Given the description of an element on the screen output the (x, y) to click on. 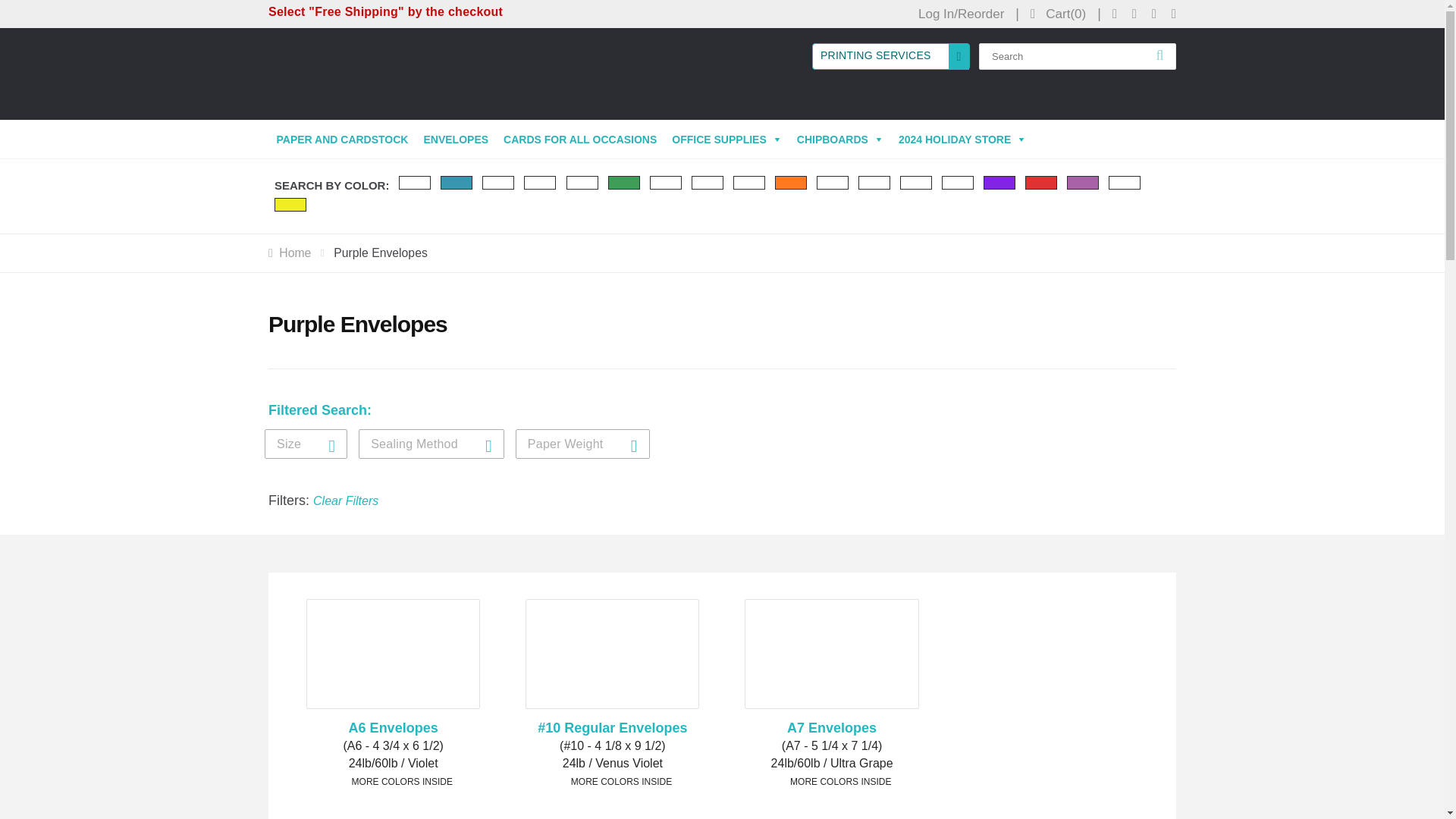
Pink (958, 182)
PRINTING SERVICES (890, 56)
Cream (540, 182)
Gray (581, 182)
Linen (707, 182)
Pastel (874, 182)
Parchment (832, 182)
Purple (999, 182)
Metallic (749, 182)
Search for: (1079, 55)
